Given the description of an element on the screen output the (x, y) to click on. 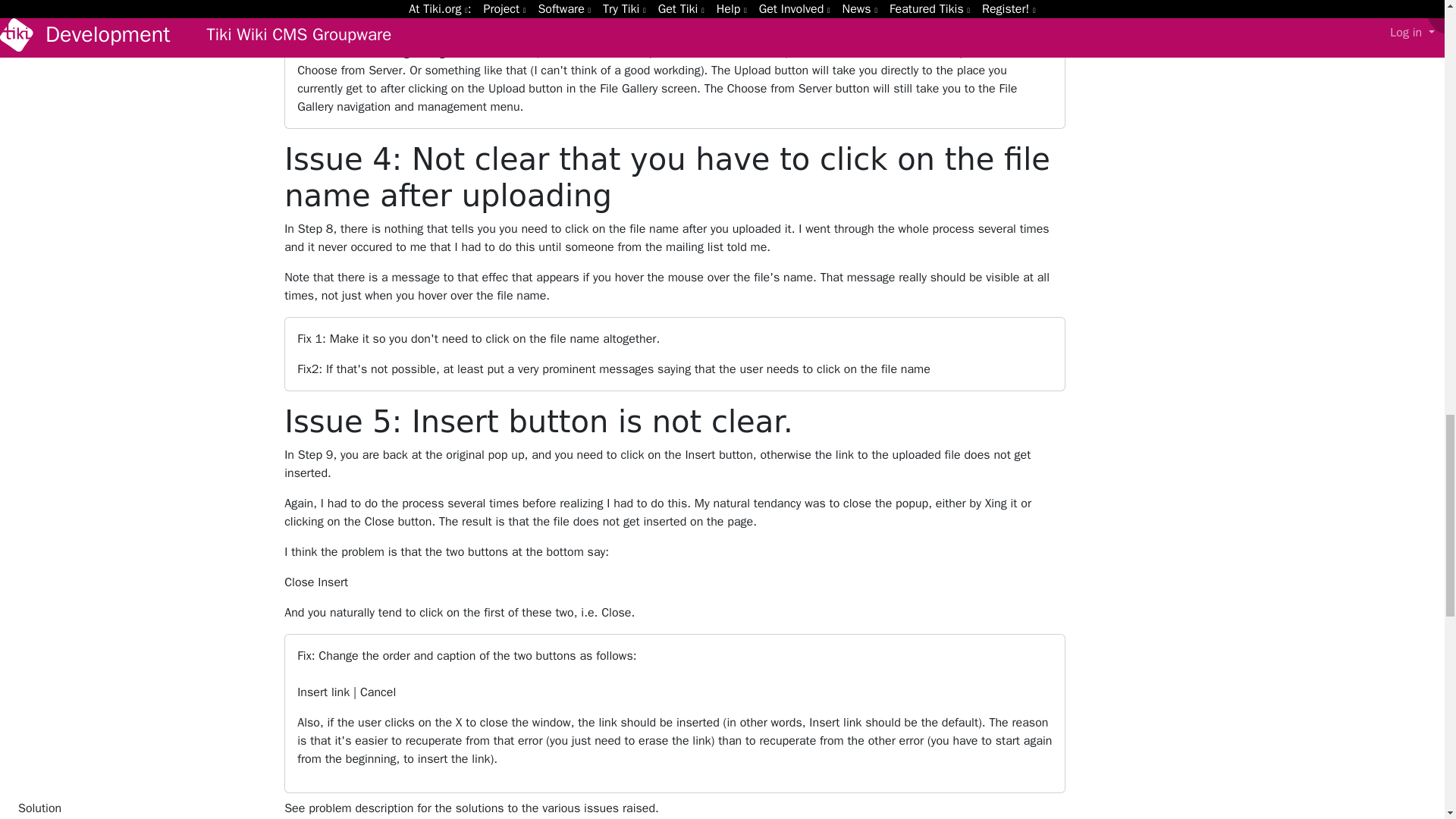
Solution (141, 809)
